Given the description of an element on the screen output the (x, y) to click on. 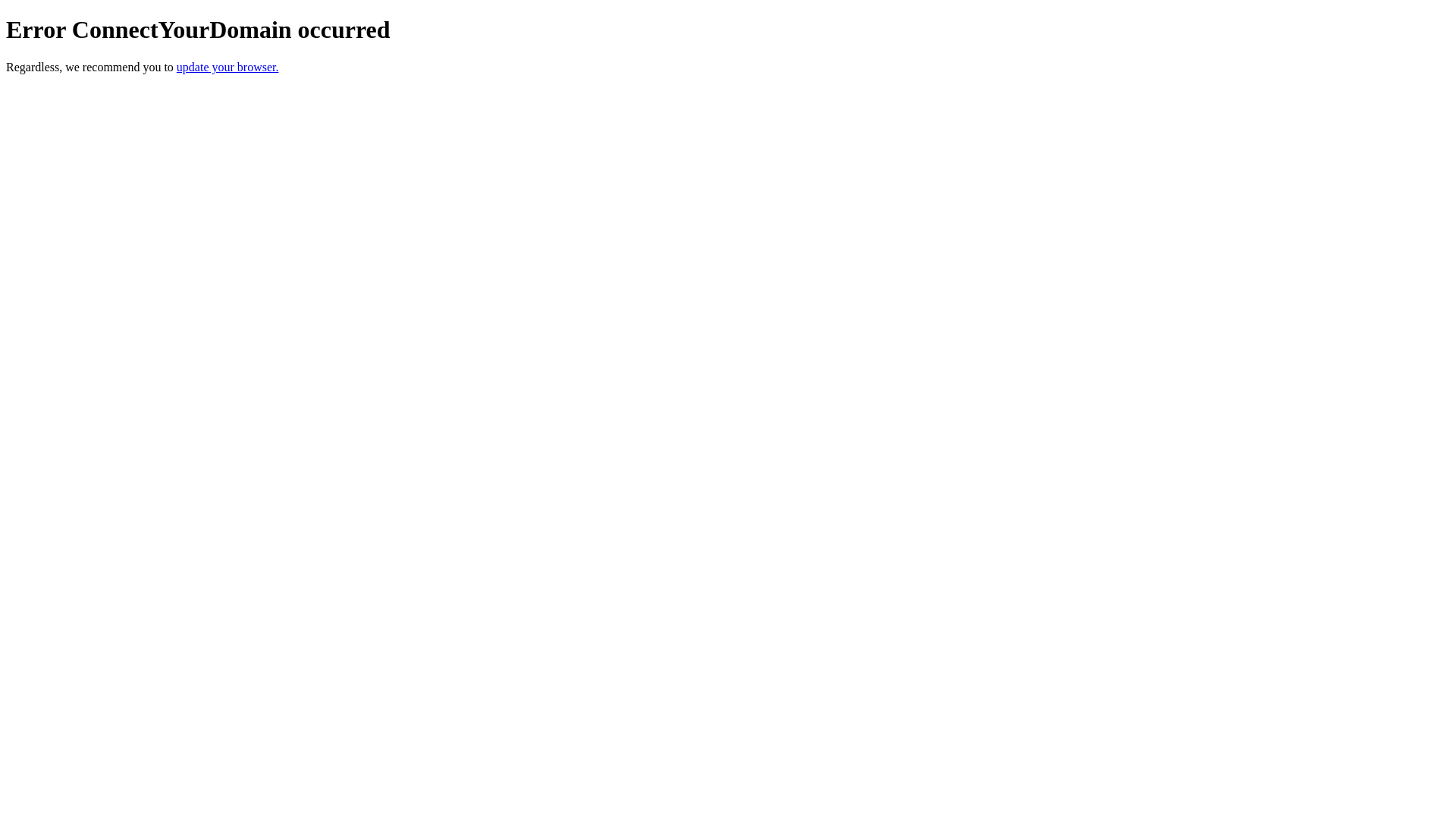
update your browser. Element type: text (227, 66)
